Given the description of an element on the screen output the (x, y) to click on. 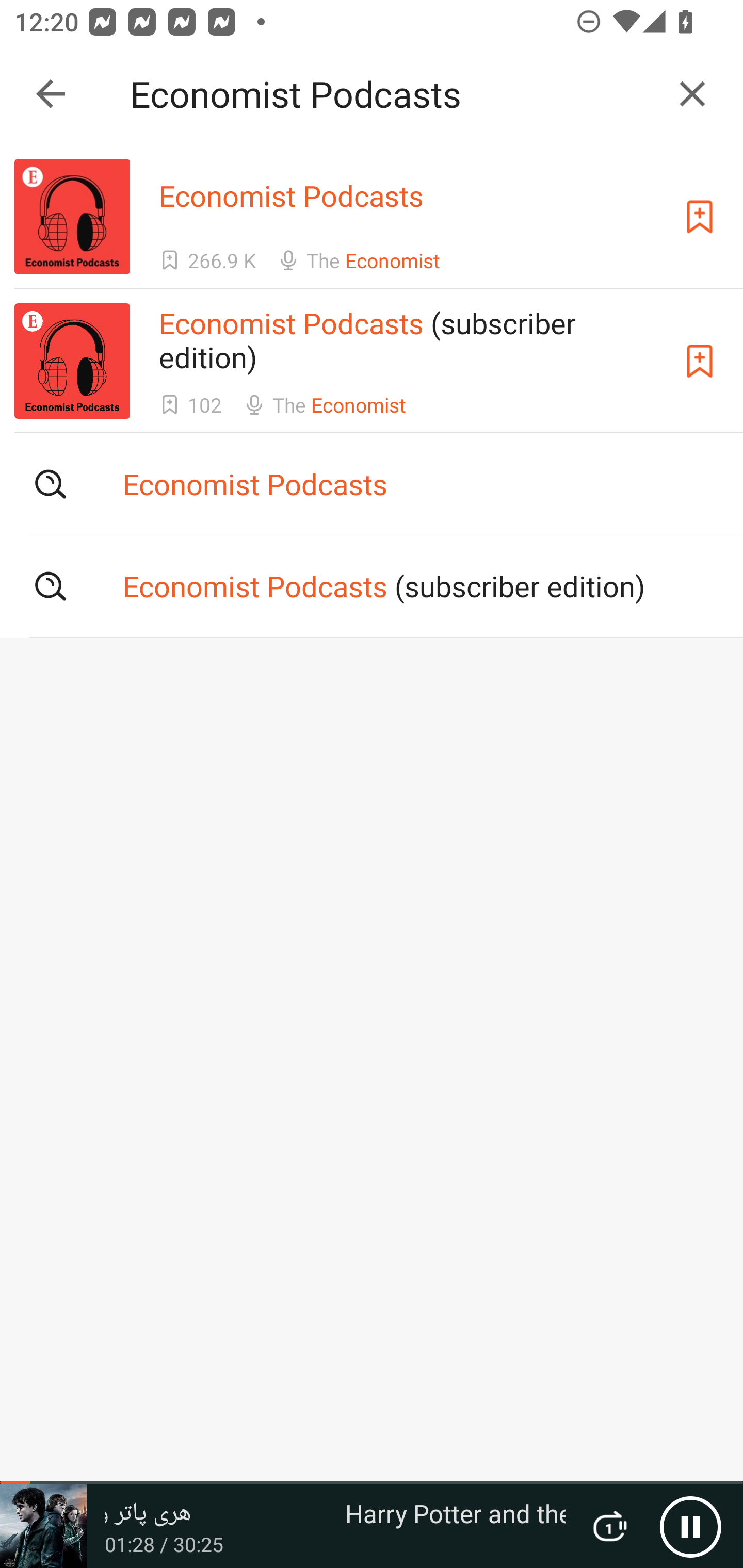
Collapse (50, 93)
Clear query (692, 93)
Economist Podcasts (393, 94)
Subscribe (699, 216)
Subscribe (699, 360)
 Economist Podcasts (371, 483)
 Economist Podcasts (subscriber edition) (371, 585)
Pause (690, 1526)
